Given the description of an element on the screen output the (x, y) to click on. 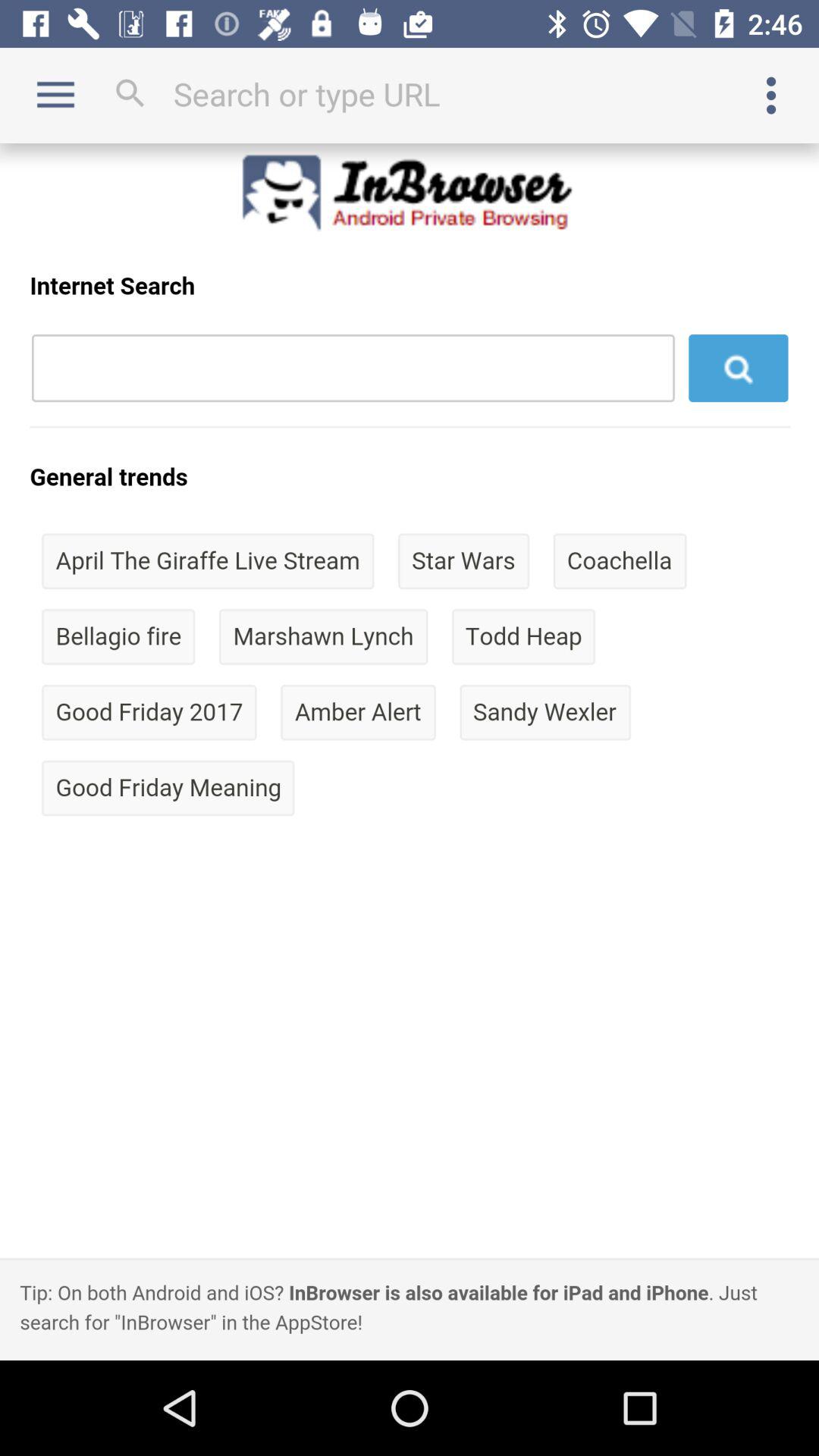
drop down menu (771, 95)
